Given the description of an element on the screen output the (x, y) to click on. 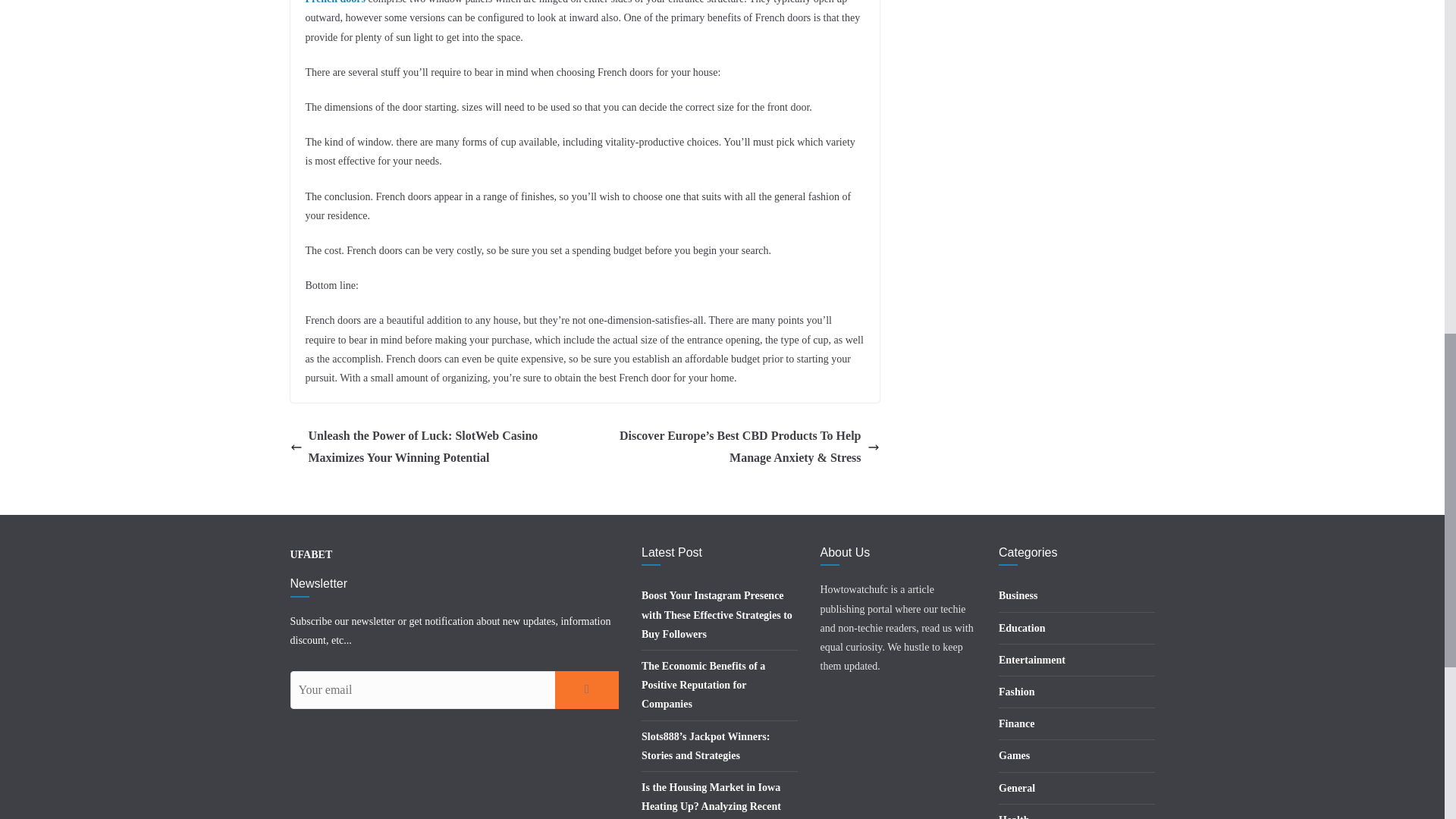
Fashion (1015, 691)
Entertainment (1031, 659)
Games (1013, 755)
The Economic Benefits of a Positive Reputation for Companies (703, 685)
UFABET (310, 554)
French doors (334, 2)
Health (1013, 816)
Education (1021, 627)
